Given the description of an element on the screen output the (x, y) to click on. 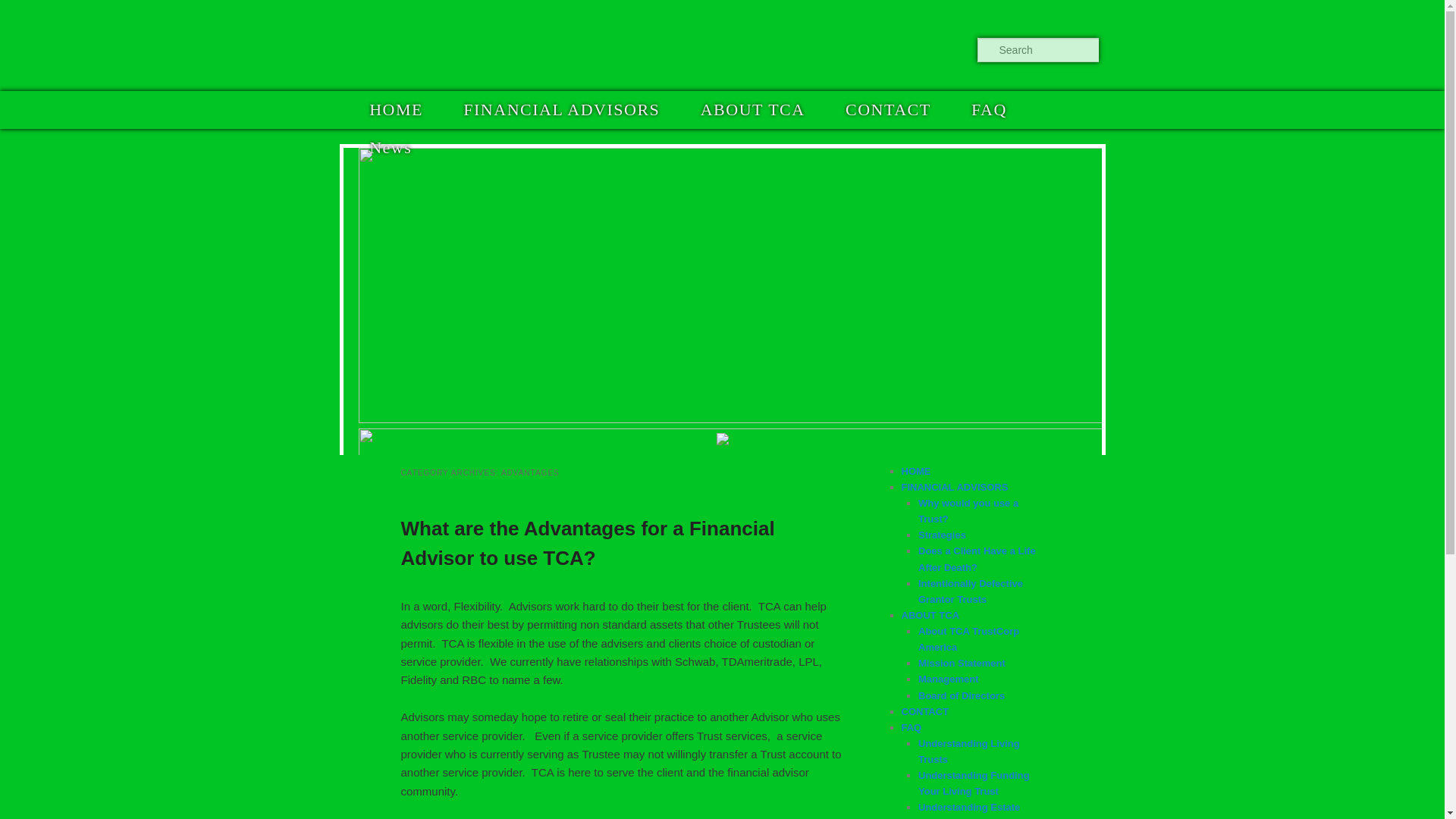
Skip to primary content (443, 109)
TCA Twitter (936, 50)
News (389, 147)
ABOUT TCA (752, 109)
Skip to secondary content (448, 109)
Trust Crop America (445, 44)
What are the Advantages for a Financial Advisor to use TCA? (587, 542)
Skip to secondary content (448, 109)
HOME (395, 109)
